Given the description of an element on the screen output the (x, y) to click on. 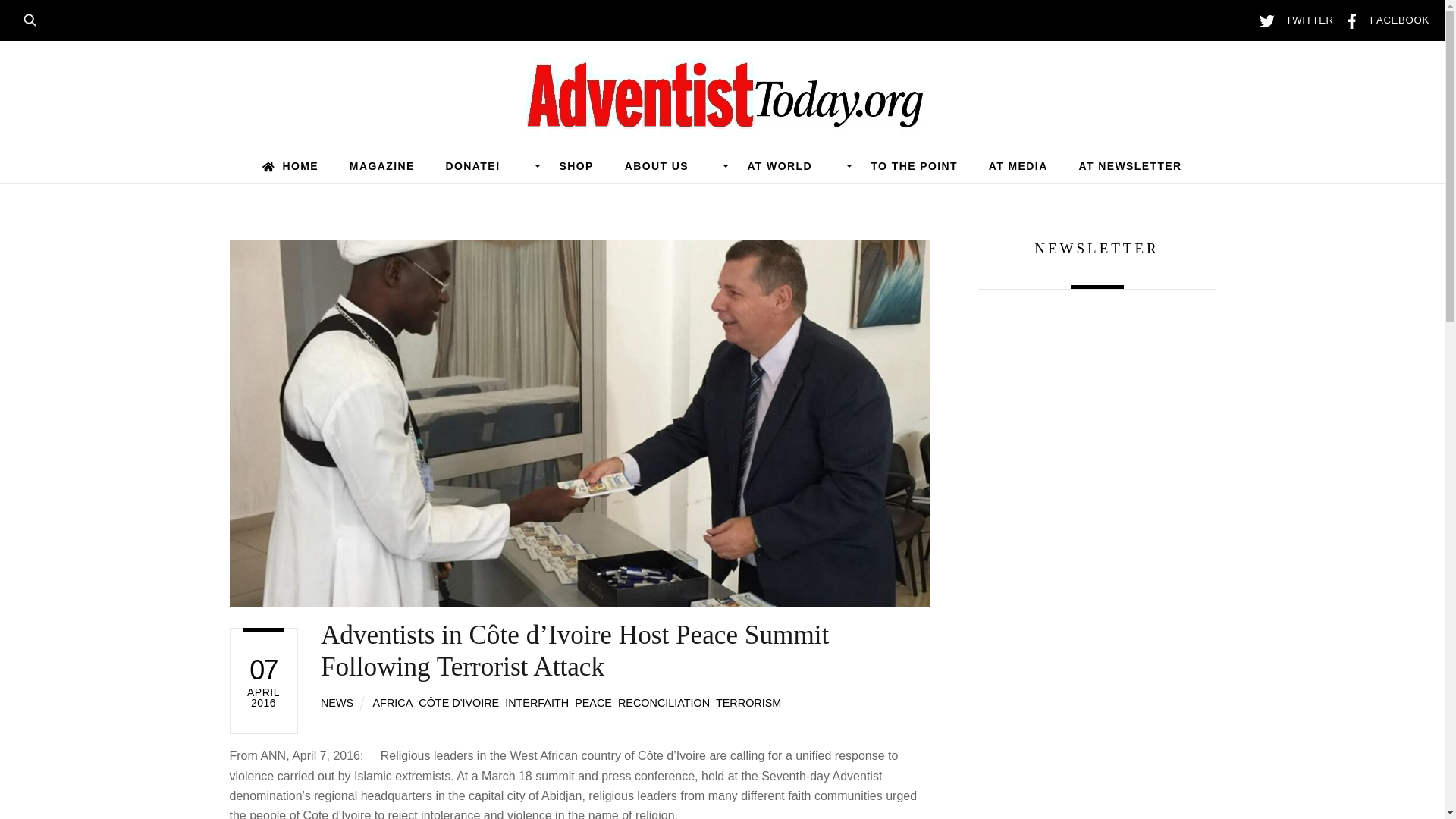
AFRICA (392, 702)
INTERFAITH (537, 702)
ABOUT US (669, 165)
RECONCILIATION (663, 702)
TO THE POINT (913, 165)
HOME (290, 165)
TERRORISM (748, 702)
MAGAZINE (381, 165)
FACEBOOK (1382, 19)
SHOP (576, 165)
